Given the description of an element on the screen output the (x, y) to click on. 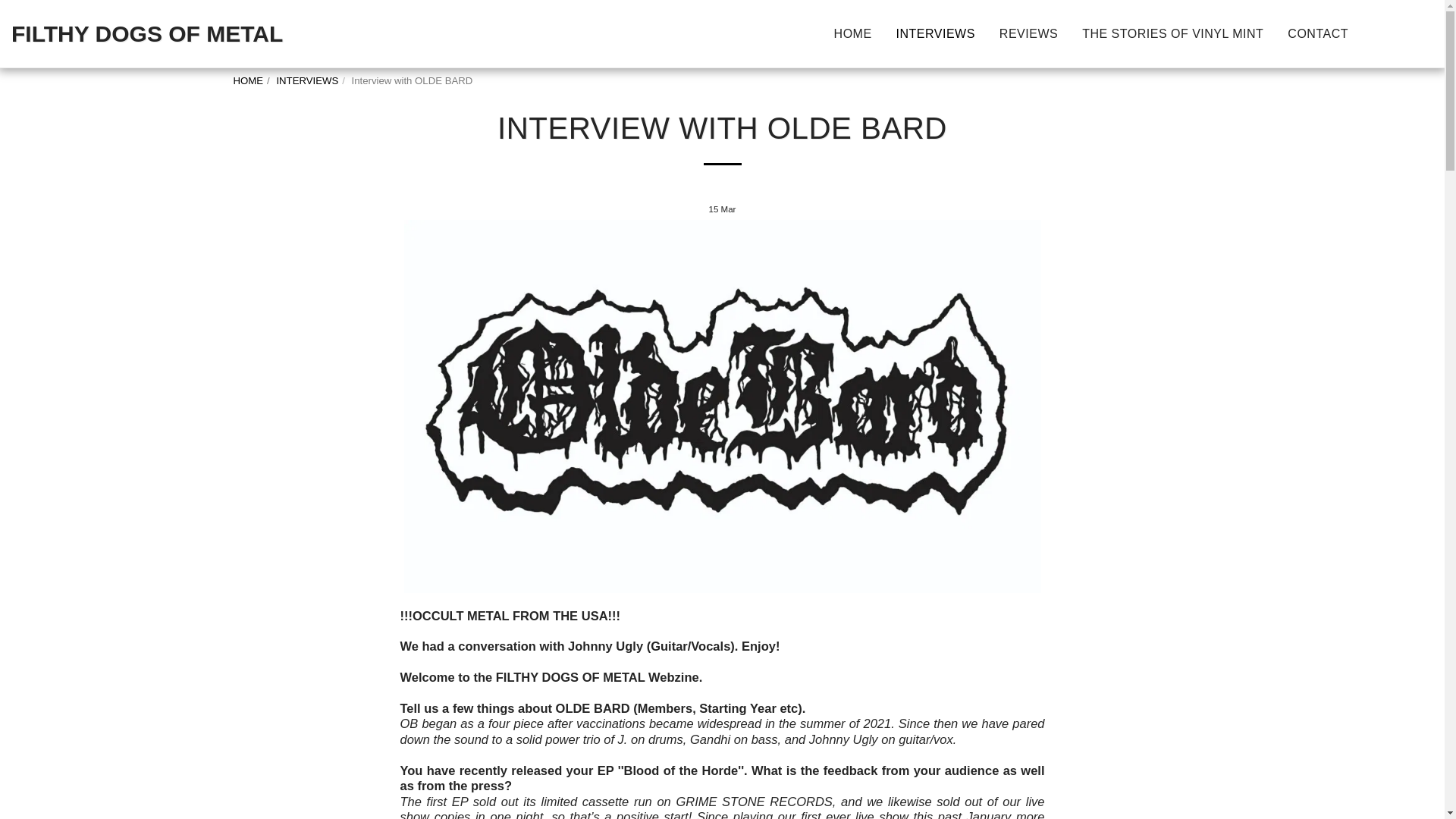
INTERVIEWS (936, 33)
HOME (852, 33)
REVIEWS (1028, 33)
INTERVIEWS (306, 80)
FILTHY DOGS OF METAL (146, 33)
THE STORIES OF VINYL MINT (1172, 33)
CONTACT (1317, 33)
